Given the description of an element on the screen output the (x, y) to click on. 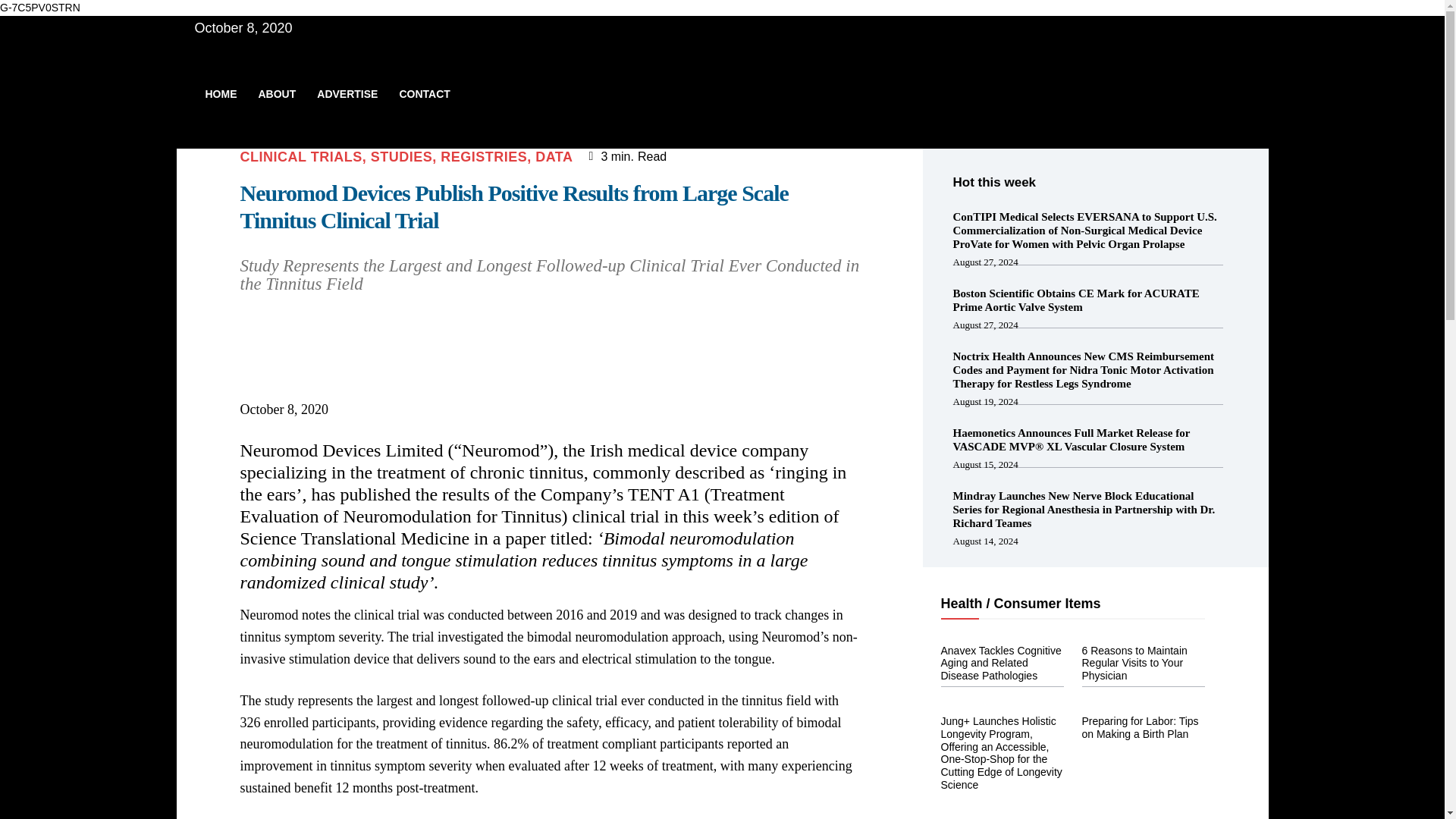
ABOUT (276, 94)
HOME (220, 94)
ADVERTISE (346, 94)
CONTACT (424, 94)
CLINICAL TRIALS, STUDIES, REGISTRIES, DATA (406, 156)
